Given the description of an element on the screen output the (x, y) to click on. 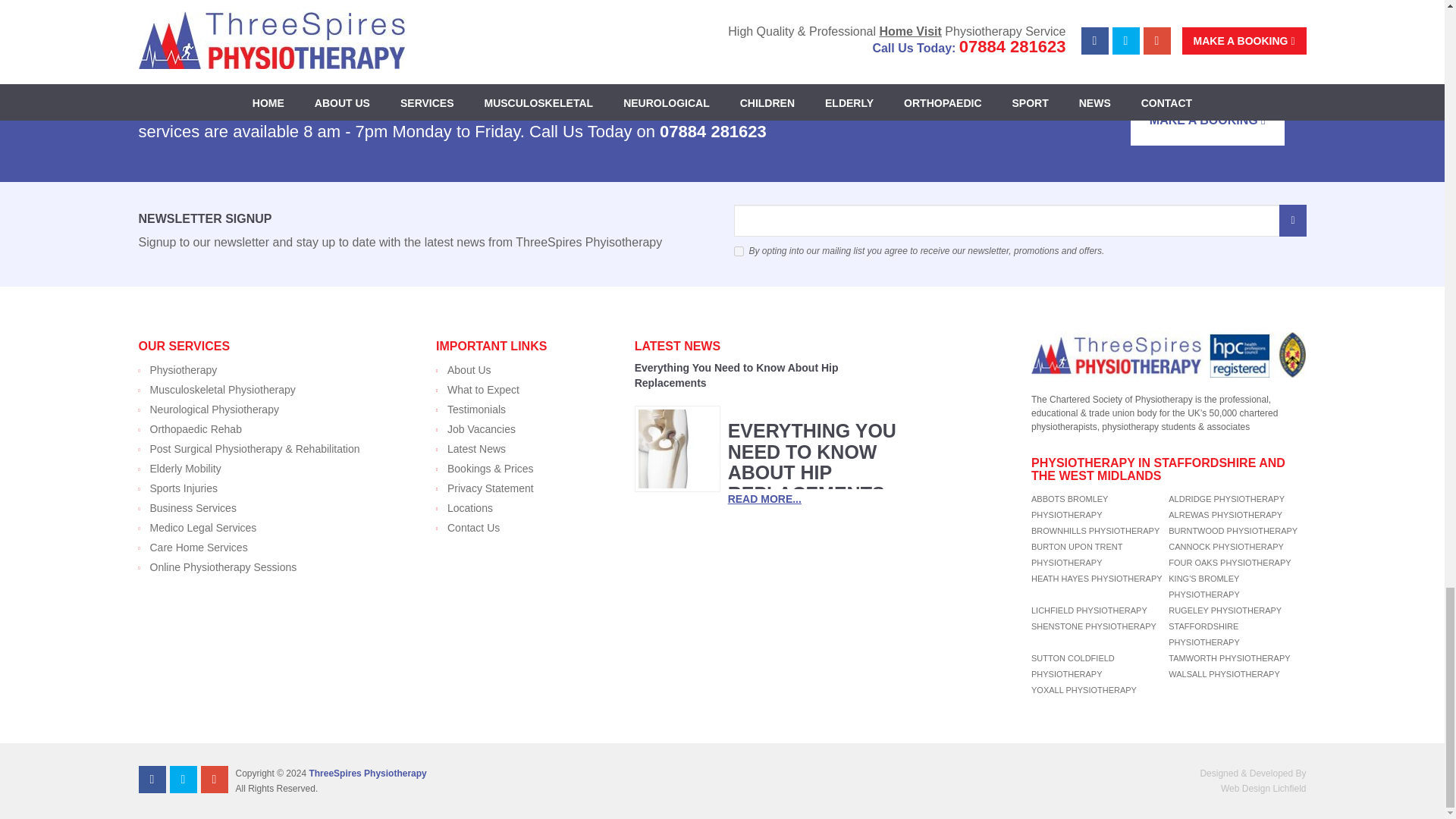
1 (738, 251)
